Given the description of an element on the screen output the (x, y) to click on. 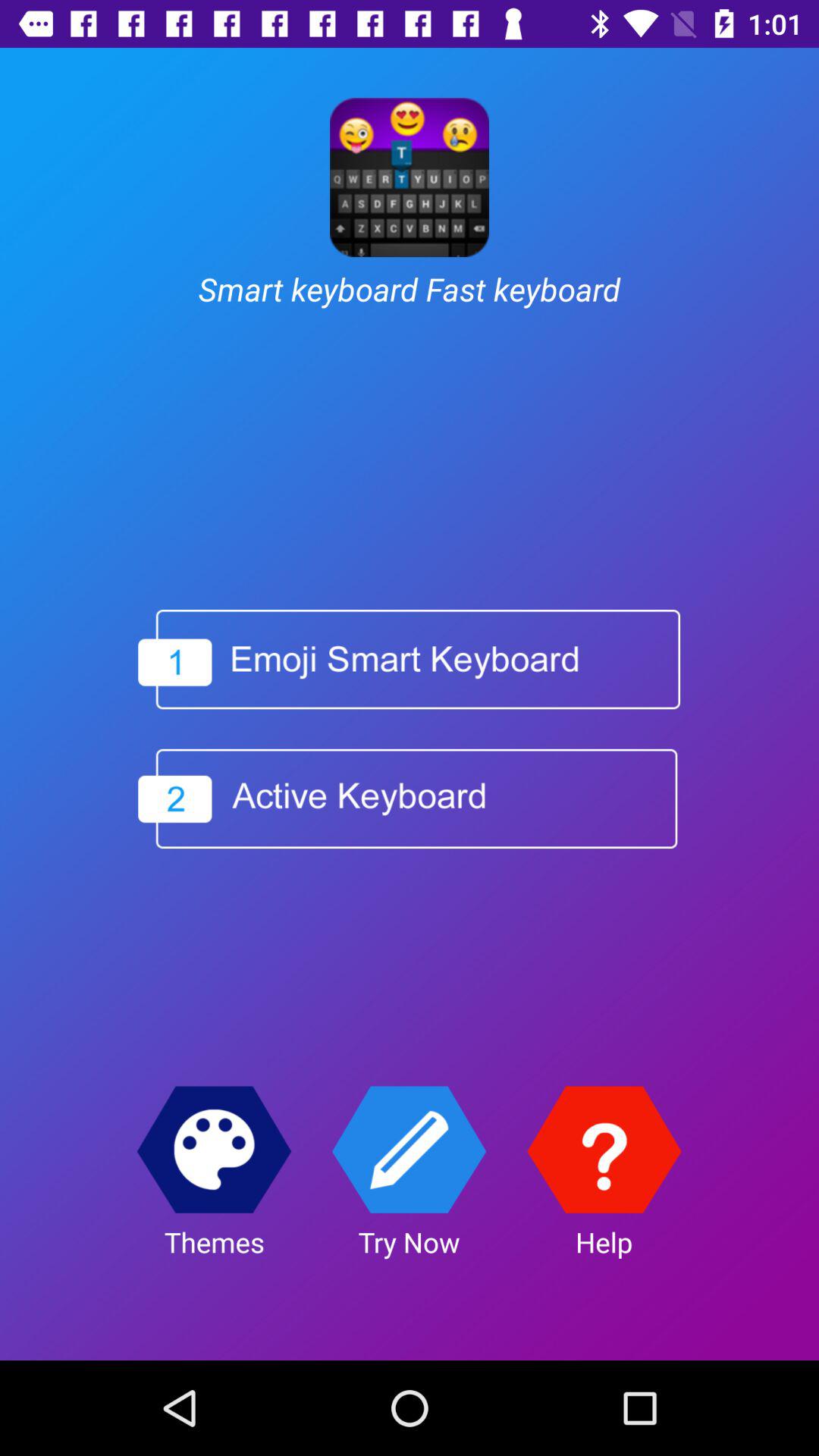
select active keyboard (407, 798)
